Given the description of an element on the screen output the (x, y) to click on. 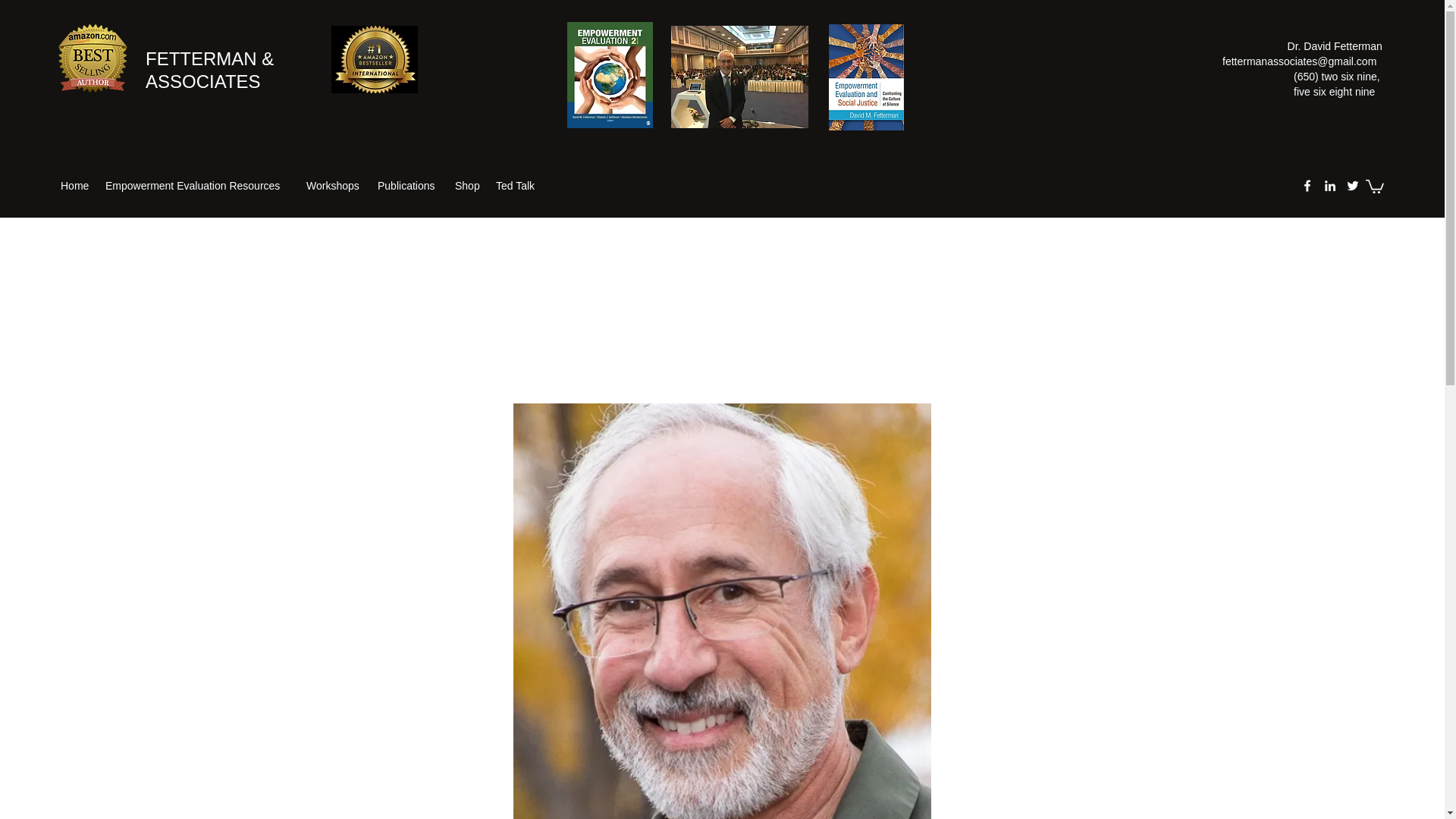
Workshops (333, 185)
Home (74, 185)
Ted Talk (515, 185)
Empowerment Evaluation Resources (197, 185)
Shop (466, 185)
Publications (407, 185)
